Given the description of an element on the screen output the (x, y) to click on. 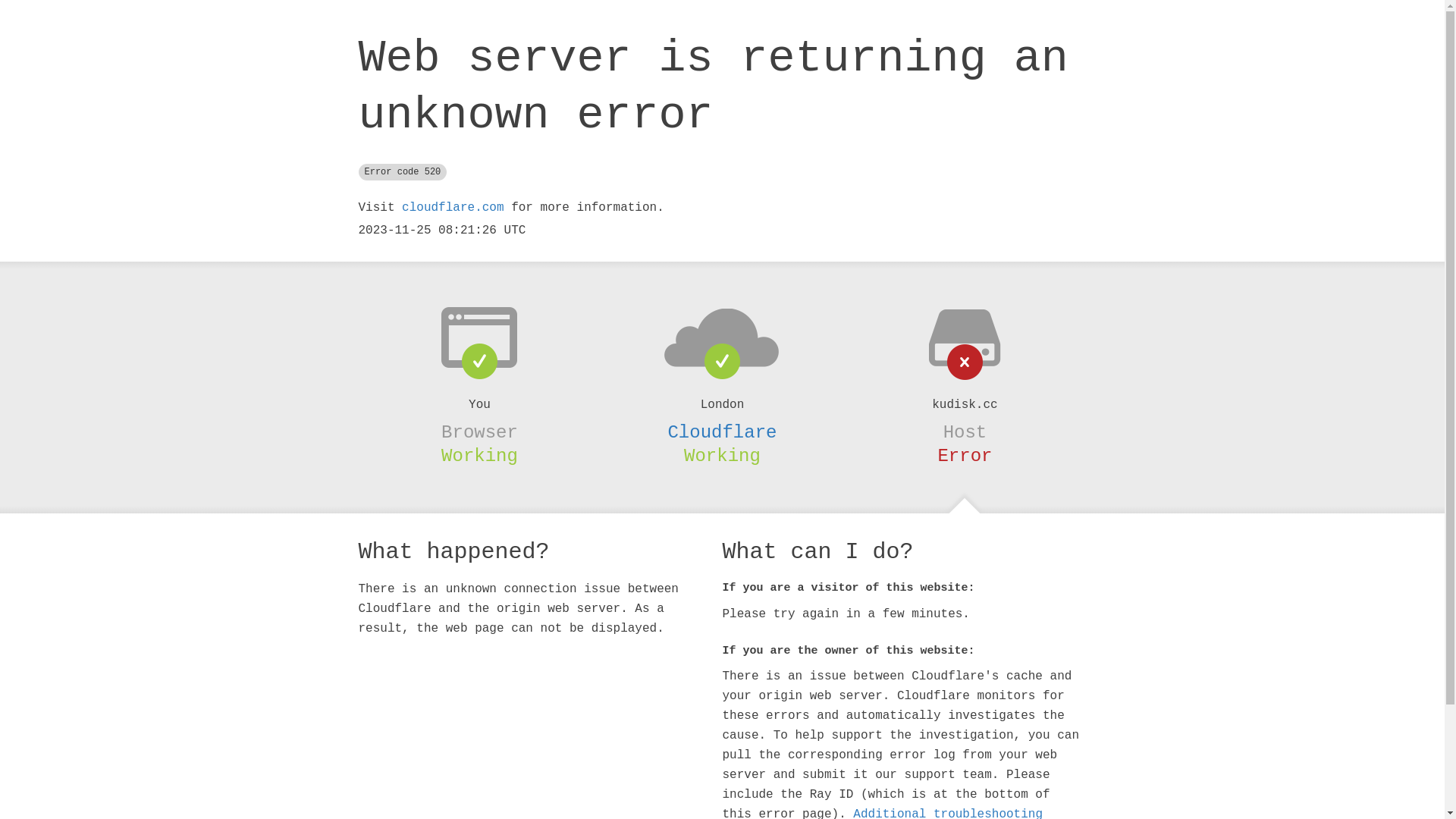
Cloudflare Element type: text (721, 432)
cloudflare.com Element type: text (452, 207)
